Given the description of an element on the screen output the (x, y) to click on. 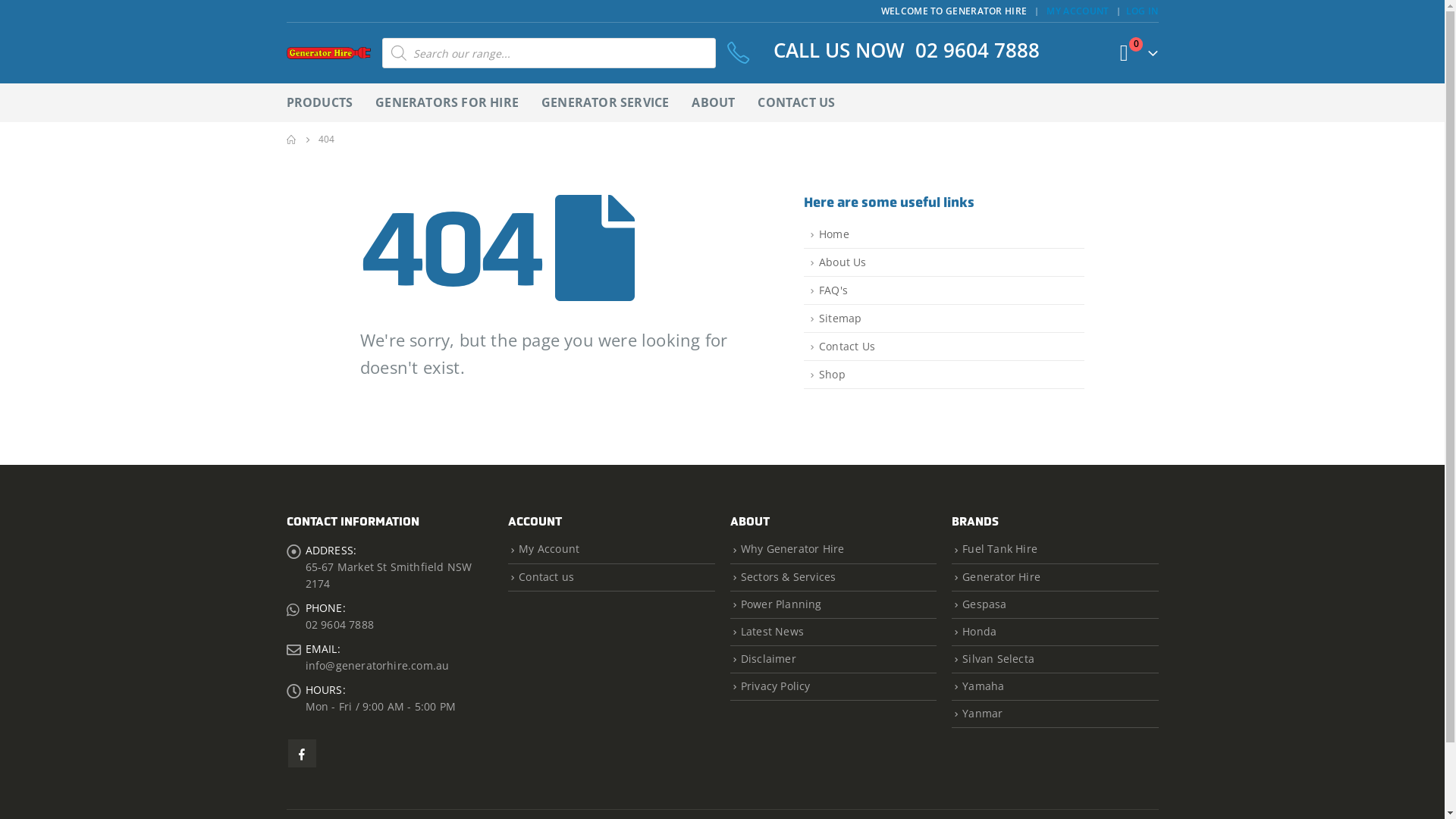
Honda Element type: text (979, 631)
Why Generator Hire Element type: text (792, 548)
LOG IN Element type: text (1141, 11)
Contact us Element type: text (546, 576)
GENERATORS FOR HIRE Element type: text (446, 102)
Power Planning Element type: text (781, 603)
Yanmar Element type: text (982, 713)
About Us Element type: text (943, 262)
CONTACT US Element type: text (795, 102)
02 9604 7888 Element type: text (977, 49)
Go to Home Page Element type: hover (291, 139)
MY ACCOUNT Element type: text (1079, 11)
Contact Us Element type: text (943, 346)
Sectors & Services Element type: text (788, 576)
Home Element type: text (943, 234)
Shop Element type: text (943, 374)
02 9604 7888 Element type: text (338, 624)
ABOUT Element type: text (712, 102)
Fuel Tank Hire Element type: text (999, 548)
Silvan Selecta Element type: text (998, 658)
Privacy Policy Element type: text (775, 685)
GENERATOR SERVICE Element type: text (604, 102)
Facebook Element type: text (302, 753)
Sitemap Element type: text (943, 318)
My Account Element type: text (548, 548)
Generator Hire -  Element type: hover (328, 53)
Generator Hire Element type: text (1001, 576)
Yamaha Element type: text (983, 685)
Gespasa Element type: text (984, 603)
FAQ's Element type: text (943, 290)
Disclaimer Element type: text (768, 658)
info@generatorhire.com.au Element type: text (376, 665)
PRODUCTS Element type: text (319, 102)
Latest News Element type: text (771, 631)
